Given the description of an element on the screen output the (x, y) to click on. 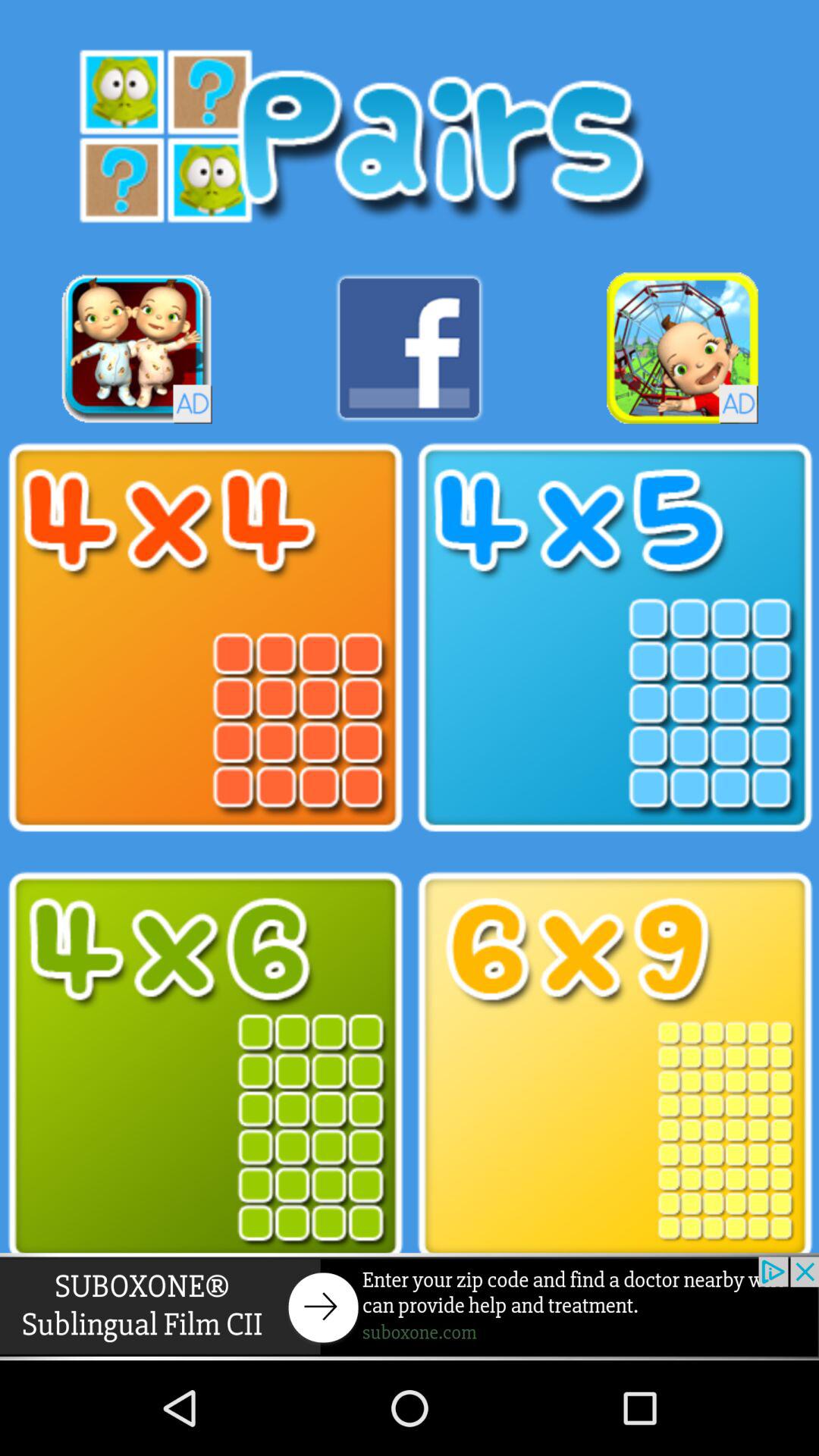
advertisement banner (409, 1306)
